Given the description of an element on the screen output the (x, y) to click on. 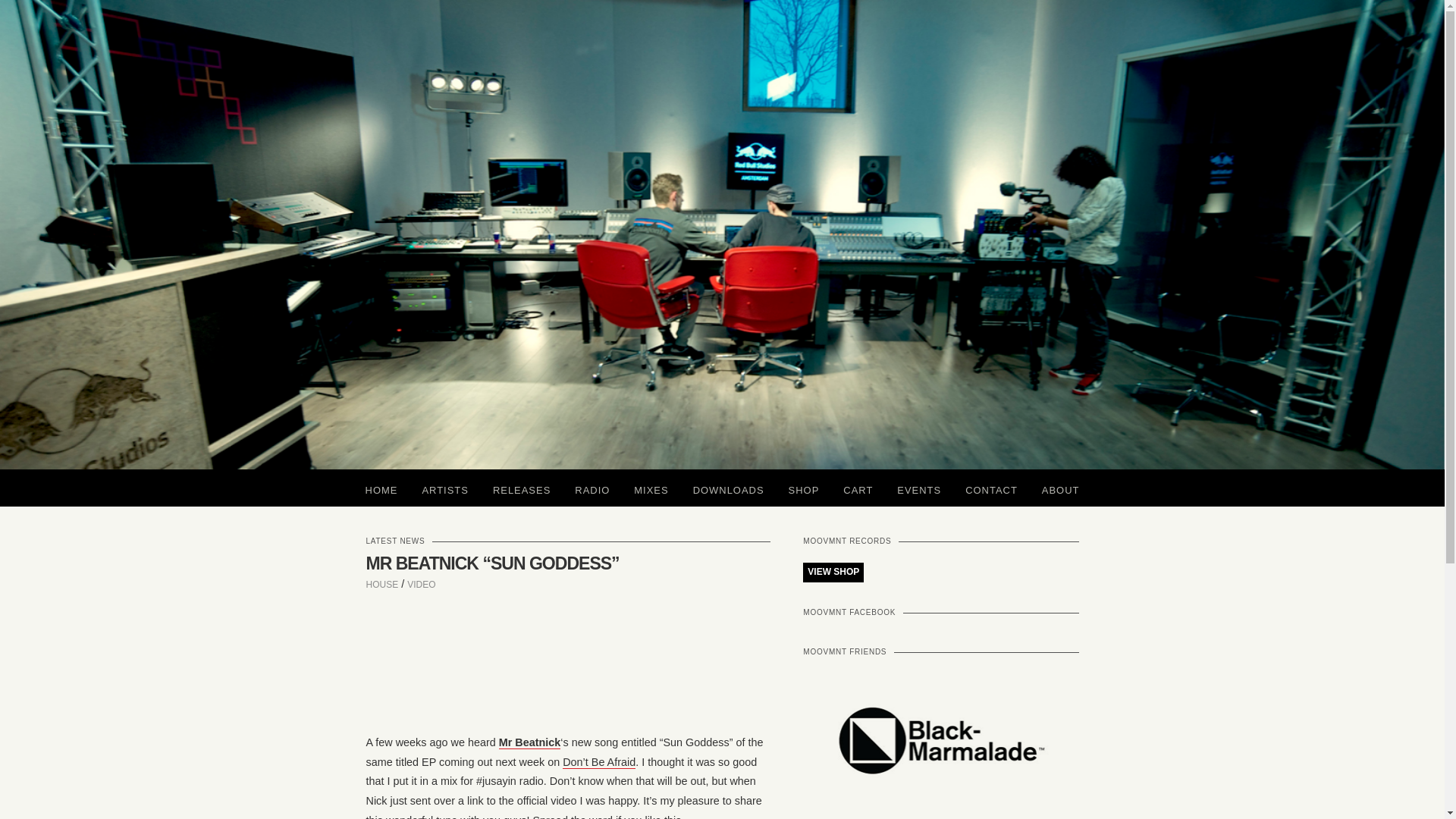
Search (26, 6)
CART (857, 487)
DOWNLOADS (728, 487)
Mr Beatnick (529, 742)
RELEASES (520, 487)
LATEST NEWS (395, 541)
VIDEO (421, 584)
MIXES (650, 487)
VIEW SHOP (833, 572)
HOME (382, 487)
RADIO (592, 487)
HOUSE (381, 584)
CONTACT (991, 487)
EVENTS (919, 487)
SHOP (803, 487)
